Given the description of an element on the screen output the (x, y) to click on. 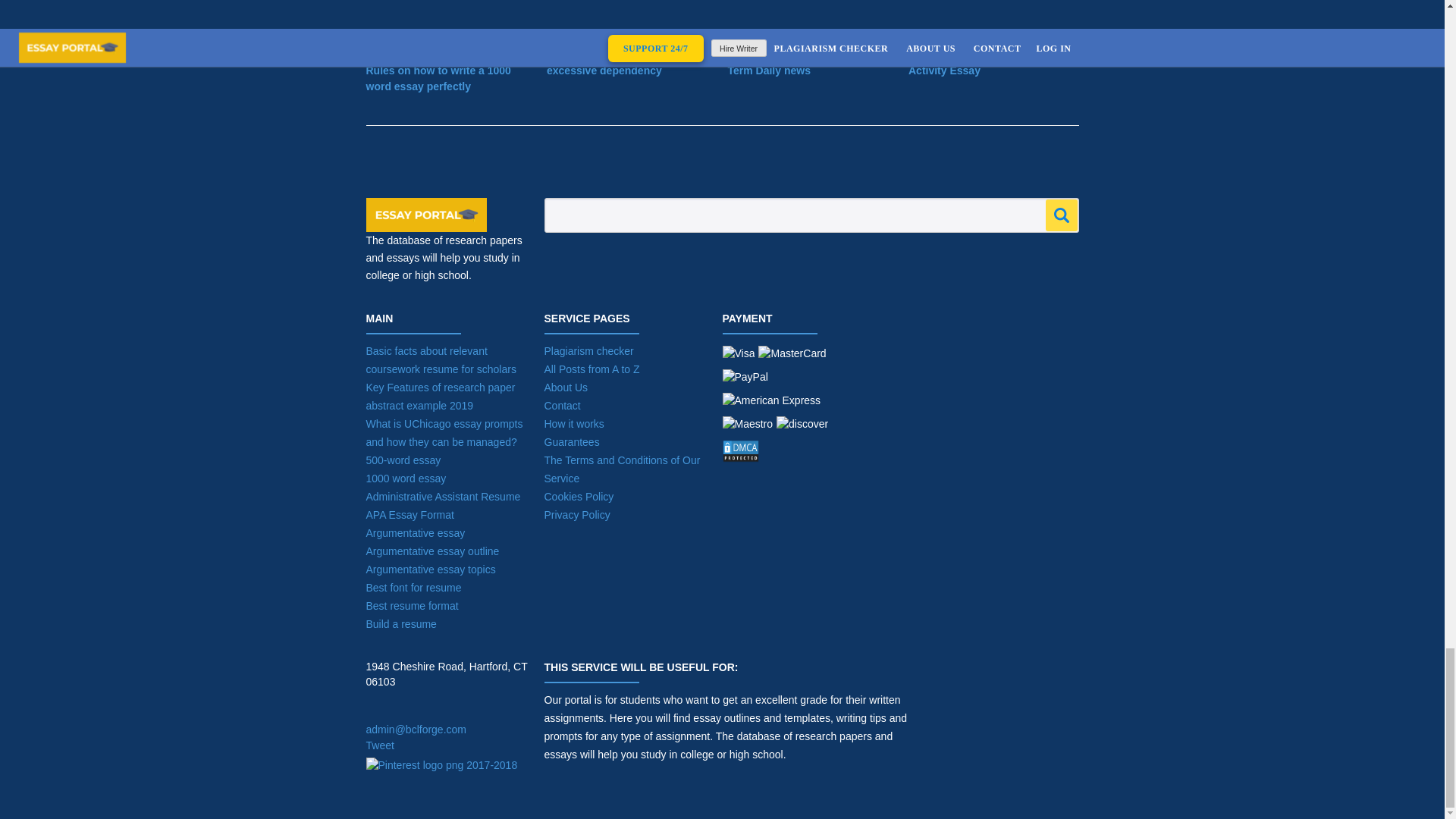
Content Protection by DMCA.com (786, 454)
